Given the description of an element on the screen output the (x, y) to click on. 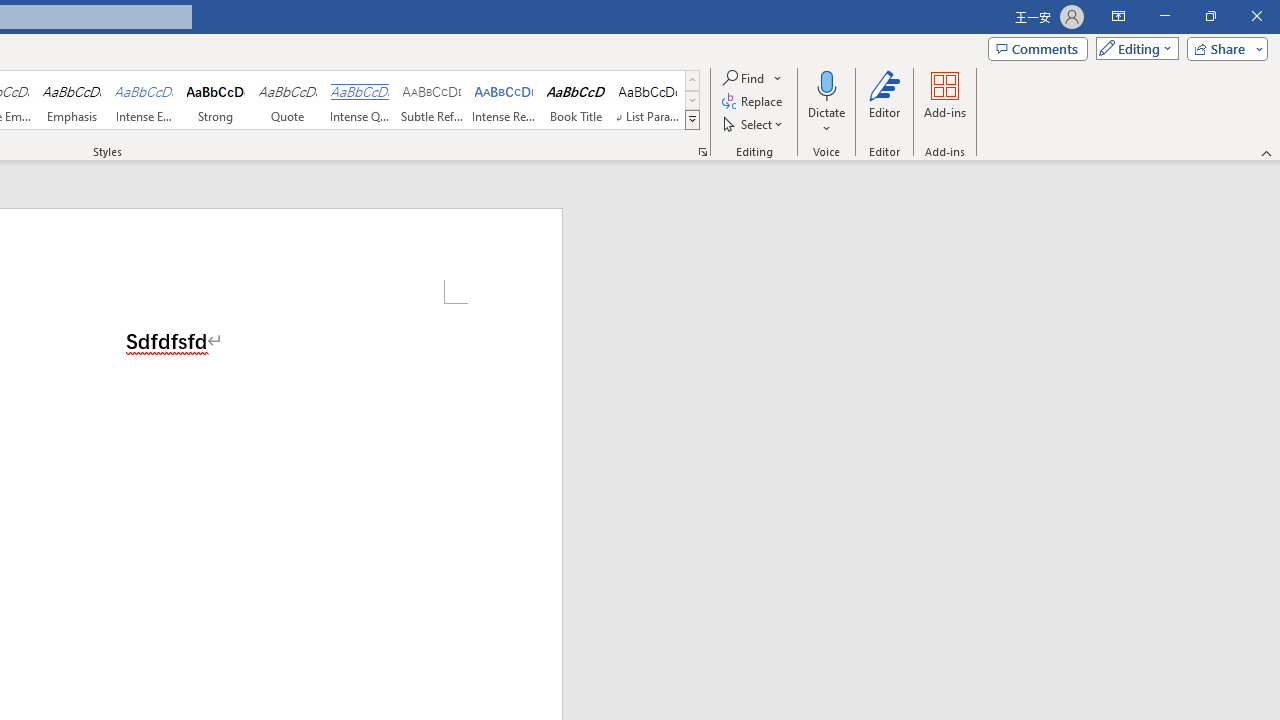
Intense Reference (504, 100)
